Given the description of an element on the screen output the (x, y) to click on. 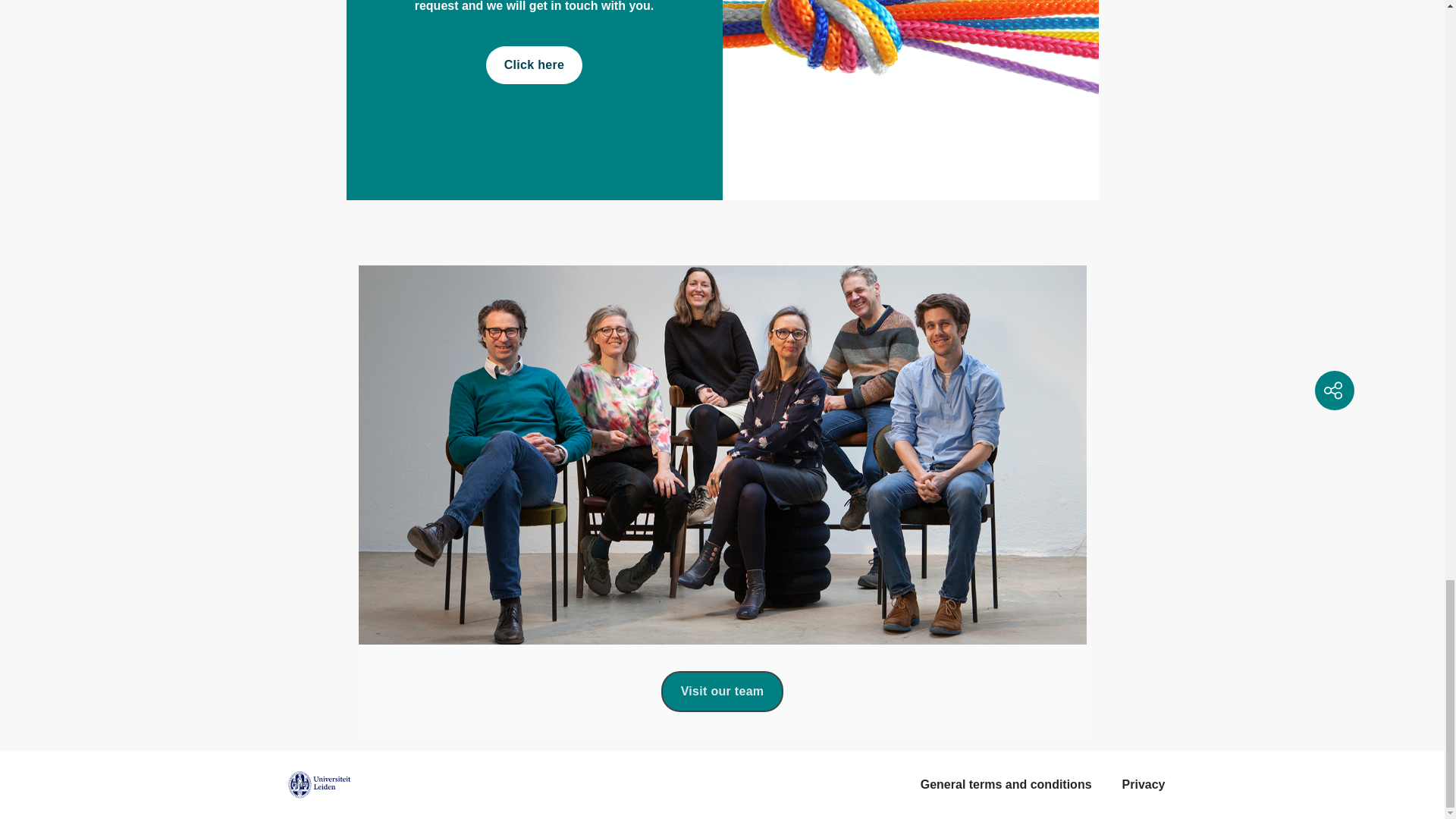
Click here (534, 64)
General terms and conditions (1006, 784)
Privacy (1144, 784)
Visit our team (722, 690)
